Given the description of an element on the screen output the (x, y) to click on. 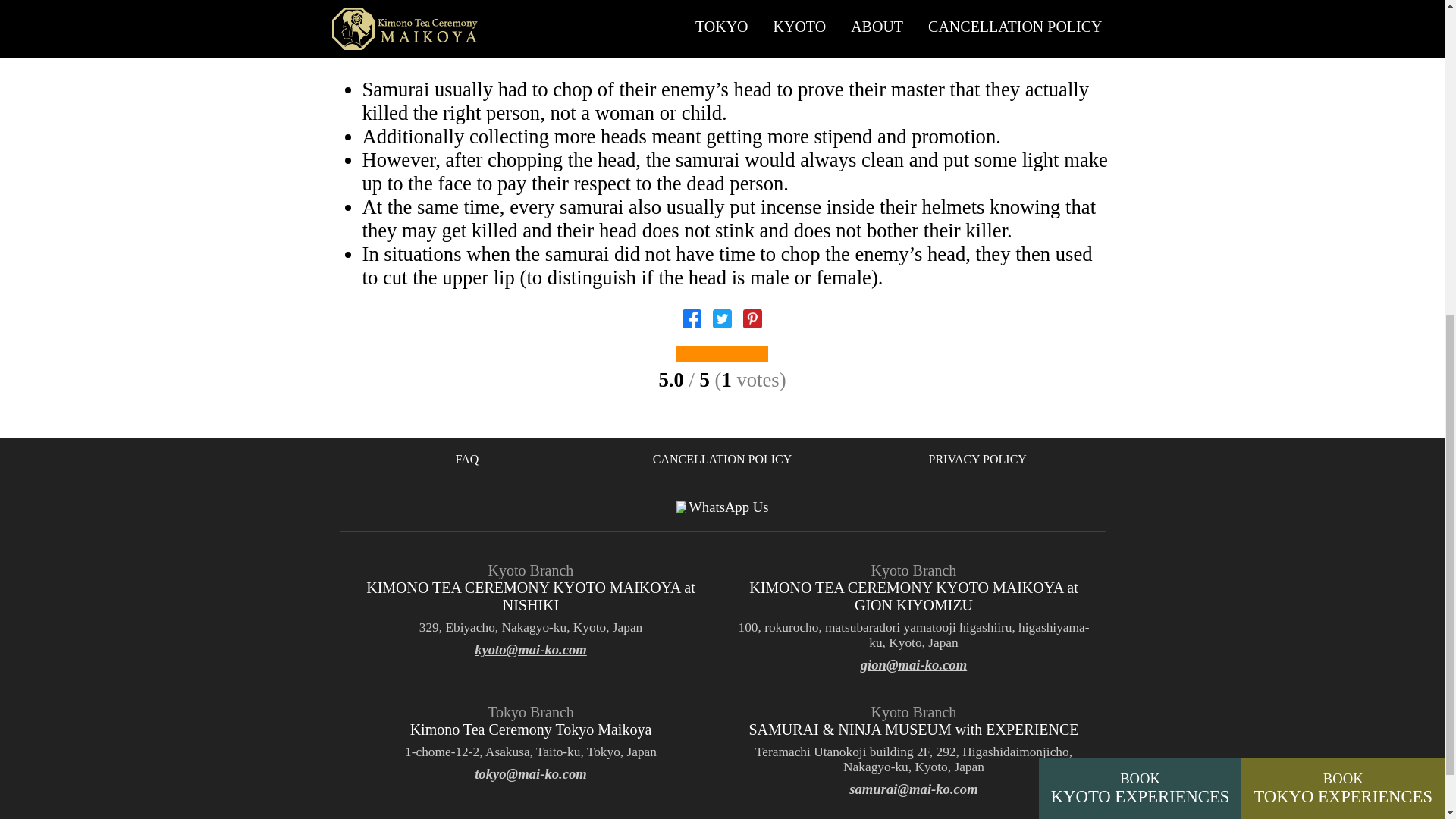
329, Ebiyacho, Nakagyo-ku, Kyoto, Japan (531, 627)
WhatsApp Us (722, 506)
PRIVACY POLICY (977, 459)
CANCELLATION POLICY (722, 459)
FAQ (1140, 246)
